Given the description of an element on the screen output the (x, y) to click on. 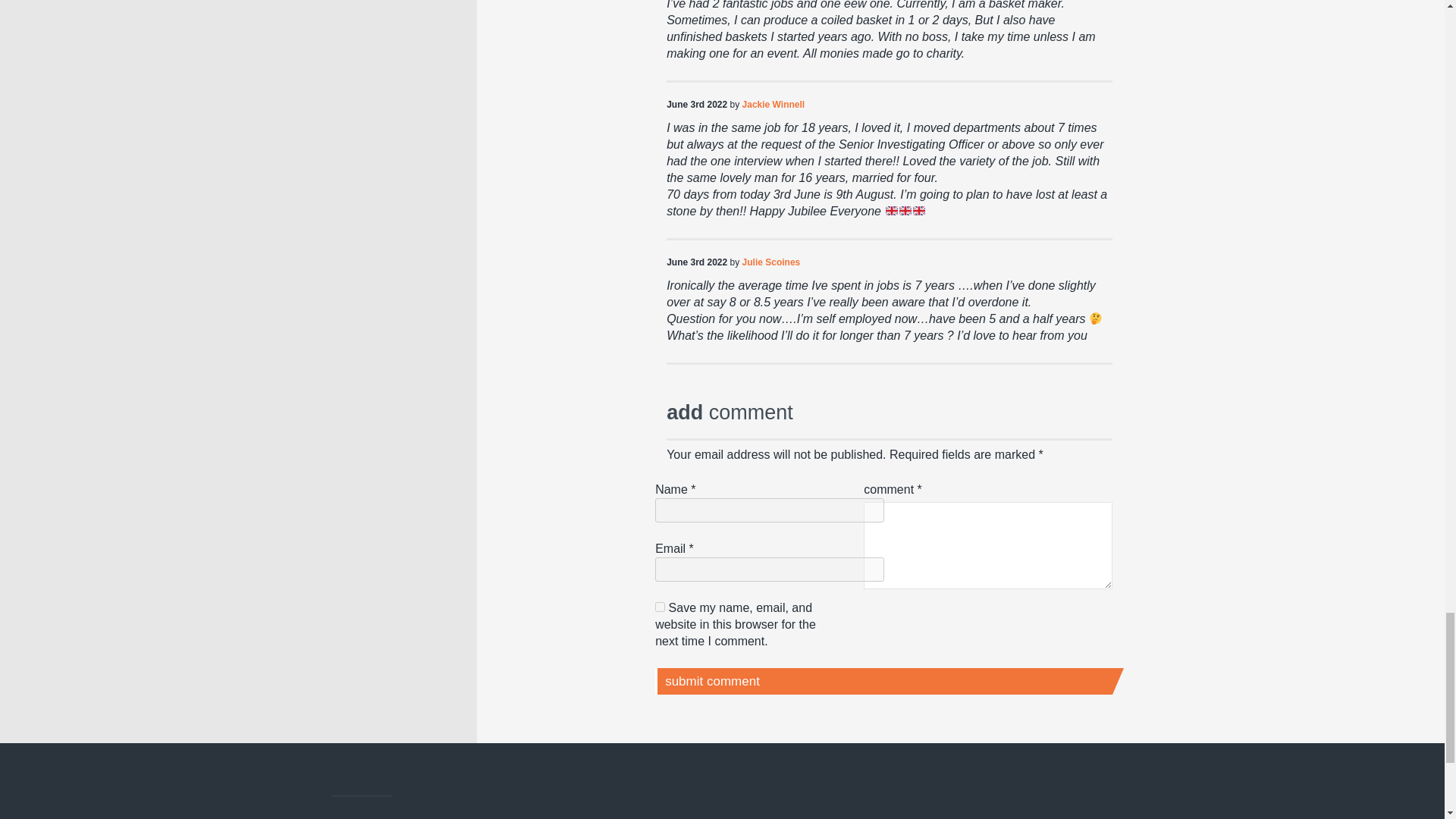
submit comment (883, 681)
yes (660, 606)
